Given the description of an element on the screen output the (x, y) to click on. 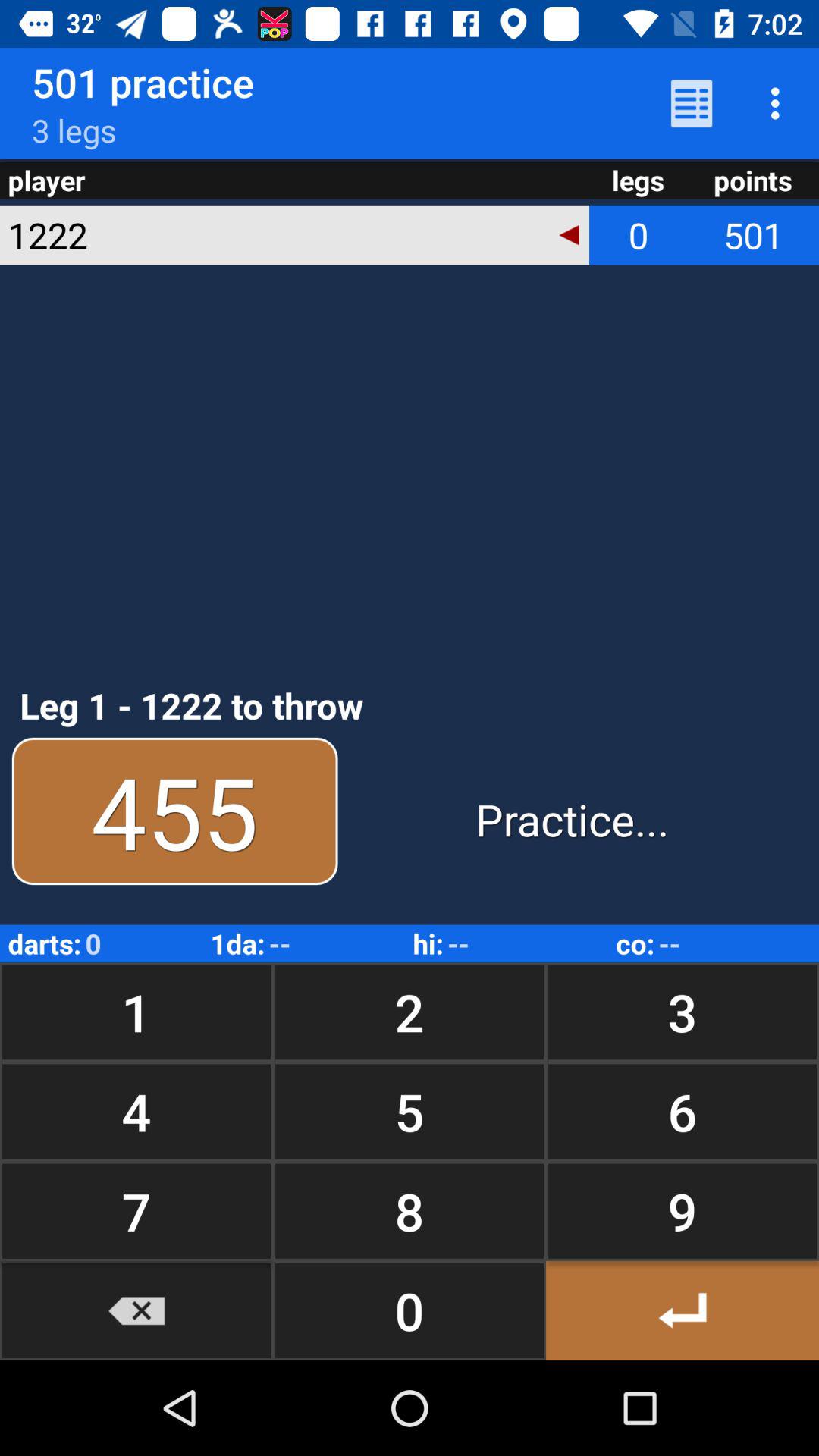
launch icon to the left of 8 button (136, 1310)
